Given the description of an element on the screen output the (x, y) to click on. 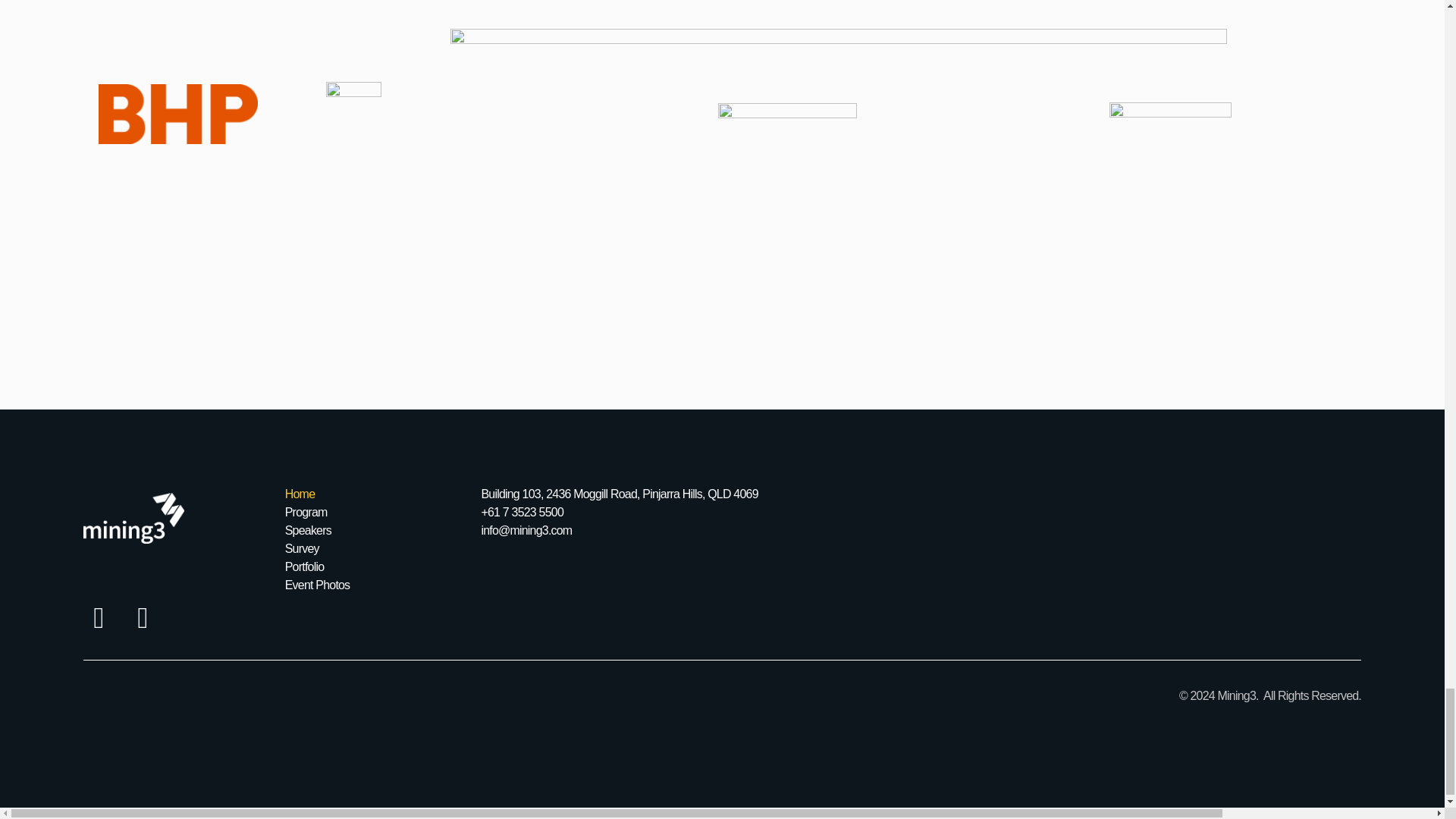
Speakers (375, 530)
Program (375, 512)
Event Photos (375, 585)
Survey (375, 548)
Portfolio (375, 566)
Home (375, 494)
